Given the description of an element on the screen output the (x, y) to click on. 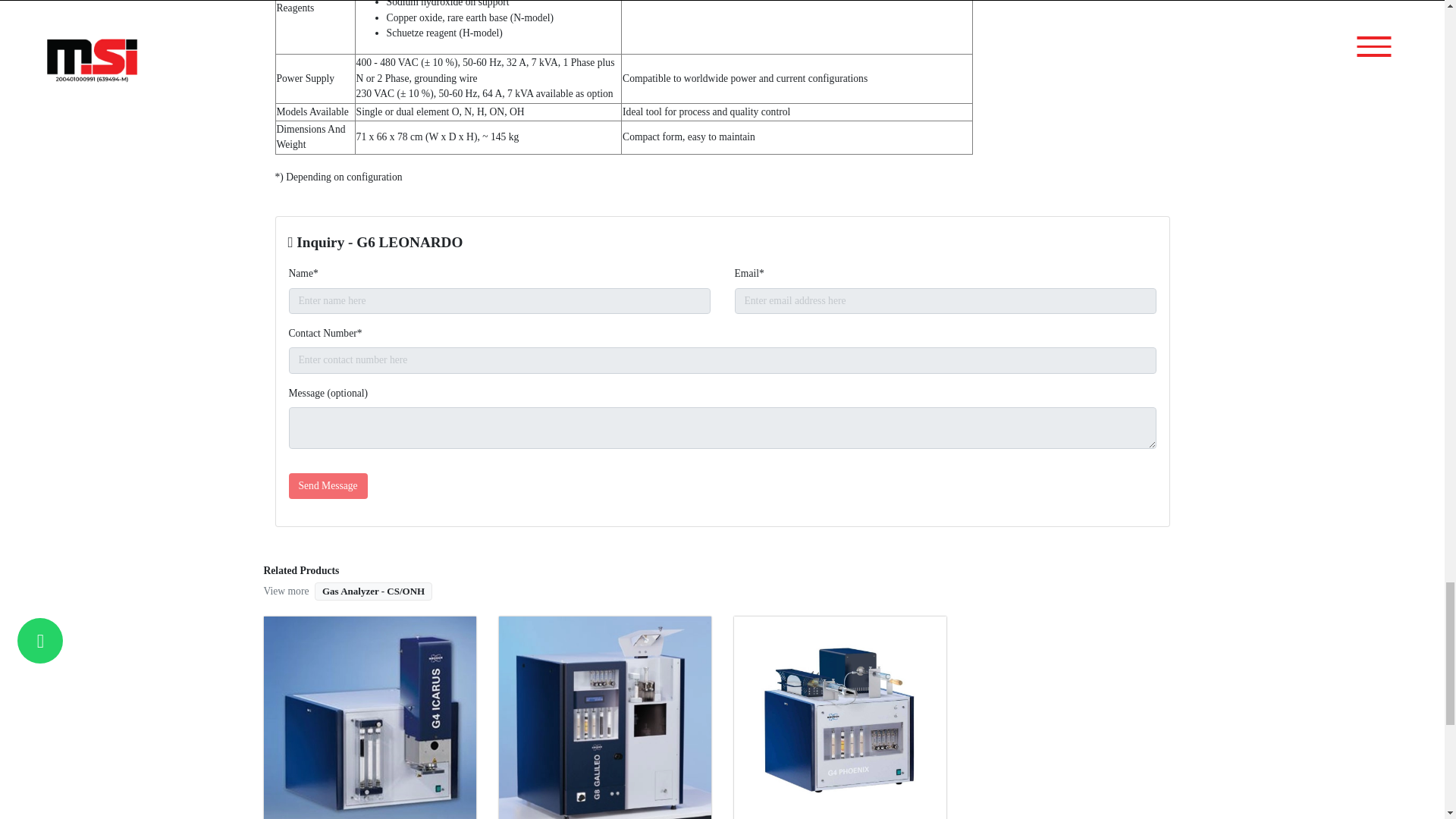
Send Message (327, 485)
